Given the description of an element on the screen output the (x, y) to click on. 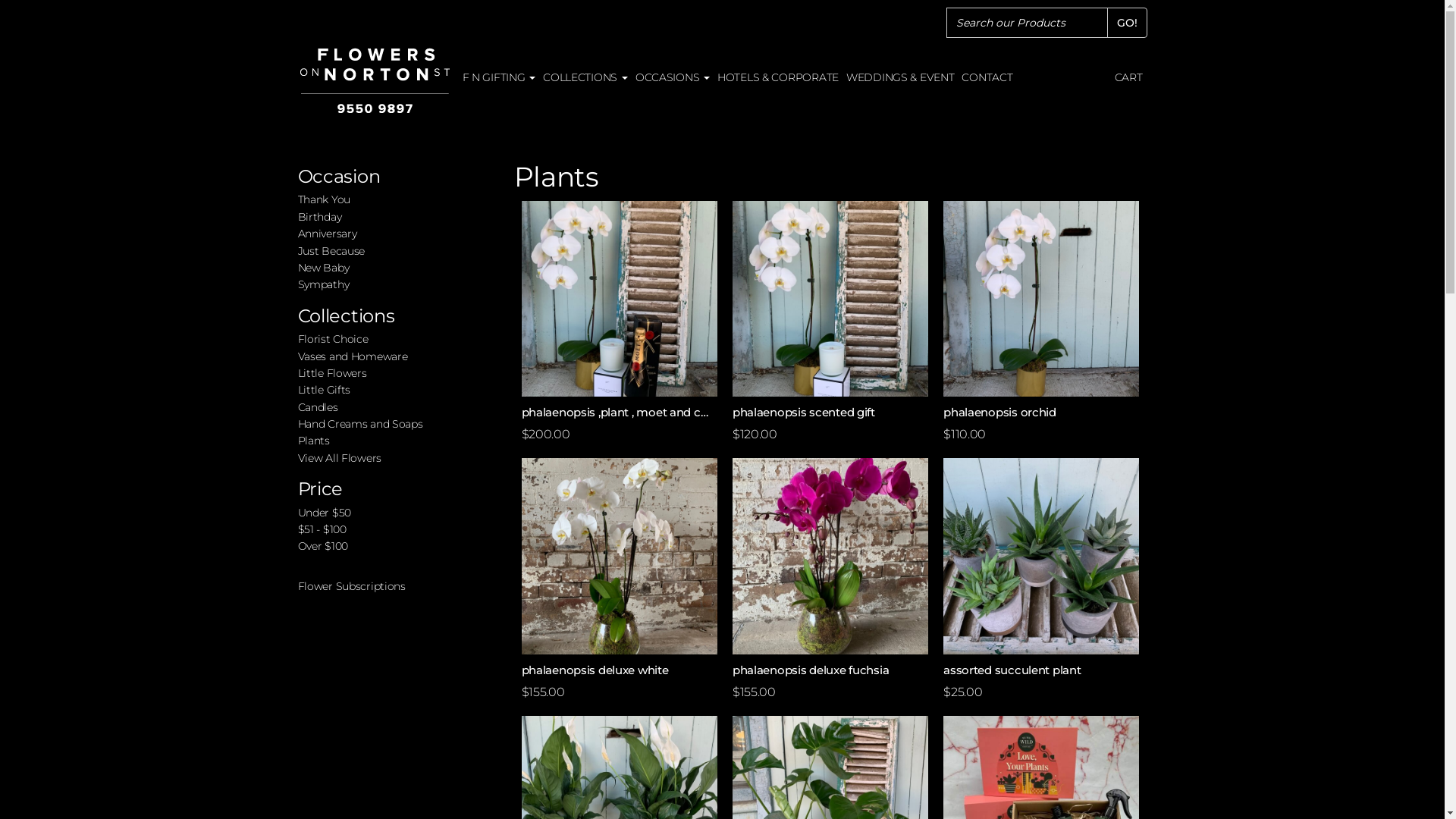
Just Because Element type: text (330, 250)
Phalaenopsis Deluxe Fuchsia  Element type: hover (830, 555)
Phalaenopsis ,plant , moet and candle Element type: hover (619, 298)
Phalaenopsis Scented Gift Element type: hover (830, 298)
Under $50 Element type: text (323, 512)
Thank You Element type: text (323, 199)
HOTELS & CORPORATE Element type: text (777, 77)
Candles Element type: text (317, 407)
Plants Element type: text (313, 440)
Price Element type: text (319, 488)
Birthday Element type: text (319, 216)
View All Flowers Element type: text (339, 457)
CART Element type: text (1128, 77)
Collections Element type: text (345, 315)
CONTACT Element type: text (986, 77)
Flower Subscriptions Element type: text (350, 586)
OCCASIONS Element type: text (672, 77)
COLLECTIONS Element type: text (585, 77)
F N GIFTING Element type: text (498, 77)
Phalaenopsis Deluxe White Element type: hover (619, 555)
WEDDINGS & EVENT Element type: text (900, 77)
Occasion Element type: text (338, 176)
Little Flowers Element type: text (331, 372)
Over $100 Element type: text (322, 545)
Anniversary Element type: text (326, 233)
Vases and Homeware Element type: text (352, 356)
Phalaenopsis Orchid  Element type: hover (1041, 298)
GO! Element type: text (1127, 22)
Hand Creams and Soaps Element type: text (359, 423)
Little Gifts Element type: text (323, 389)
Sympathy Element type: text (322, 284)
$51 - $100 Element type: text (321, 529)
Assorted Succulent Plant Element type: hover (1041, 555)
Florist Choice Element type: text (332, 338)
New Baby Element type: text (322, 267)
